Given the description of an element on the screen output the (x, y) to click on. 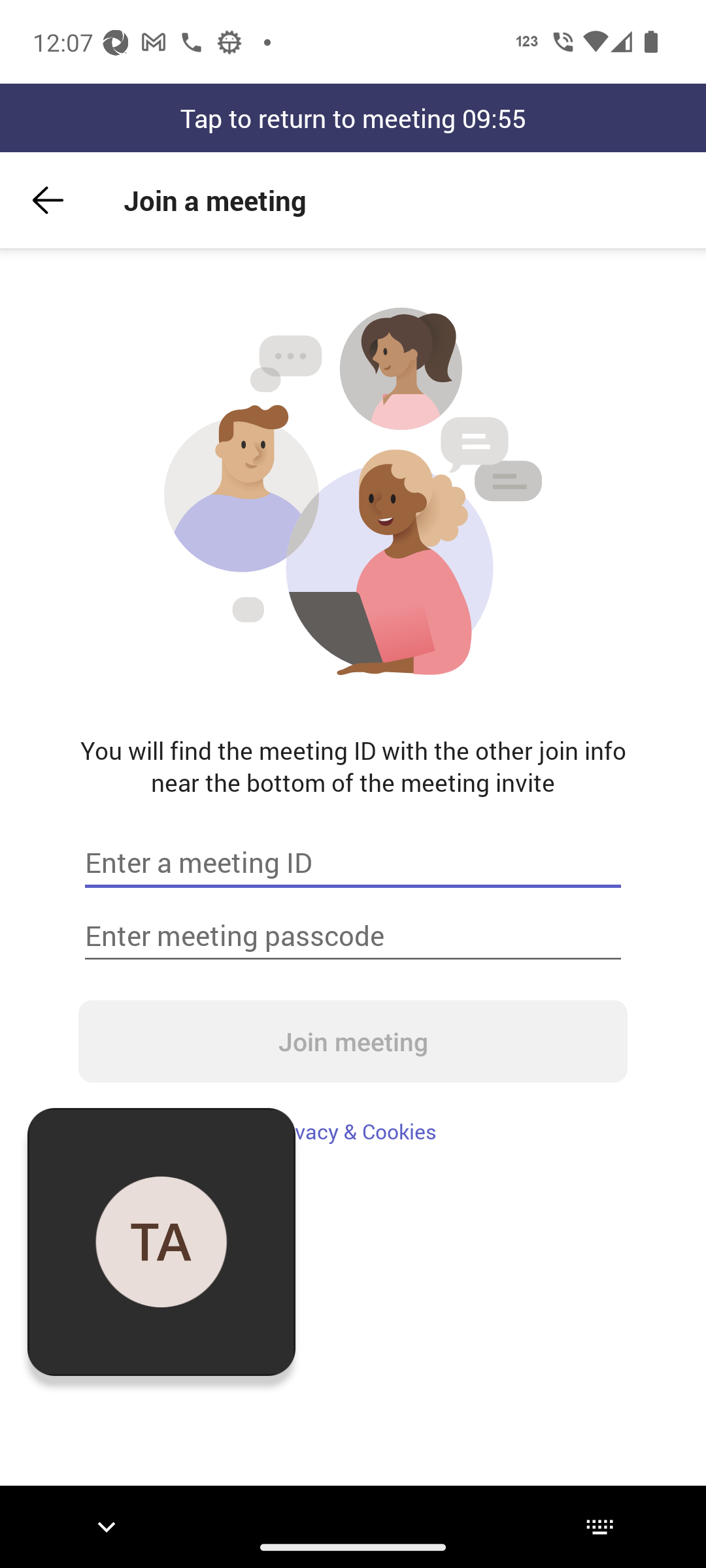
Tap to return to meeting 09:54 (353, 117)
Back (48, 199)
Enter a meeting ID (352, 863)
Enter meeting passcode (352, 936)
Join meeting (352, 1040)
